Given the description of an element on the screen output the (x, y) to click on. 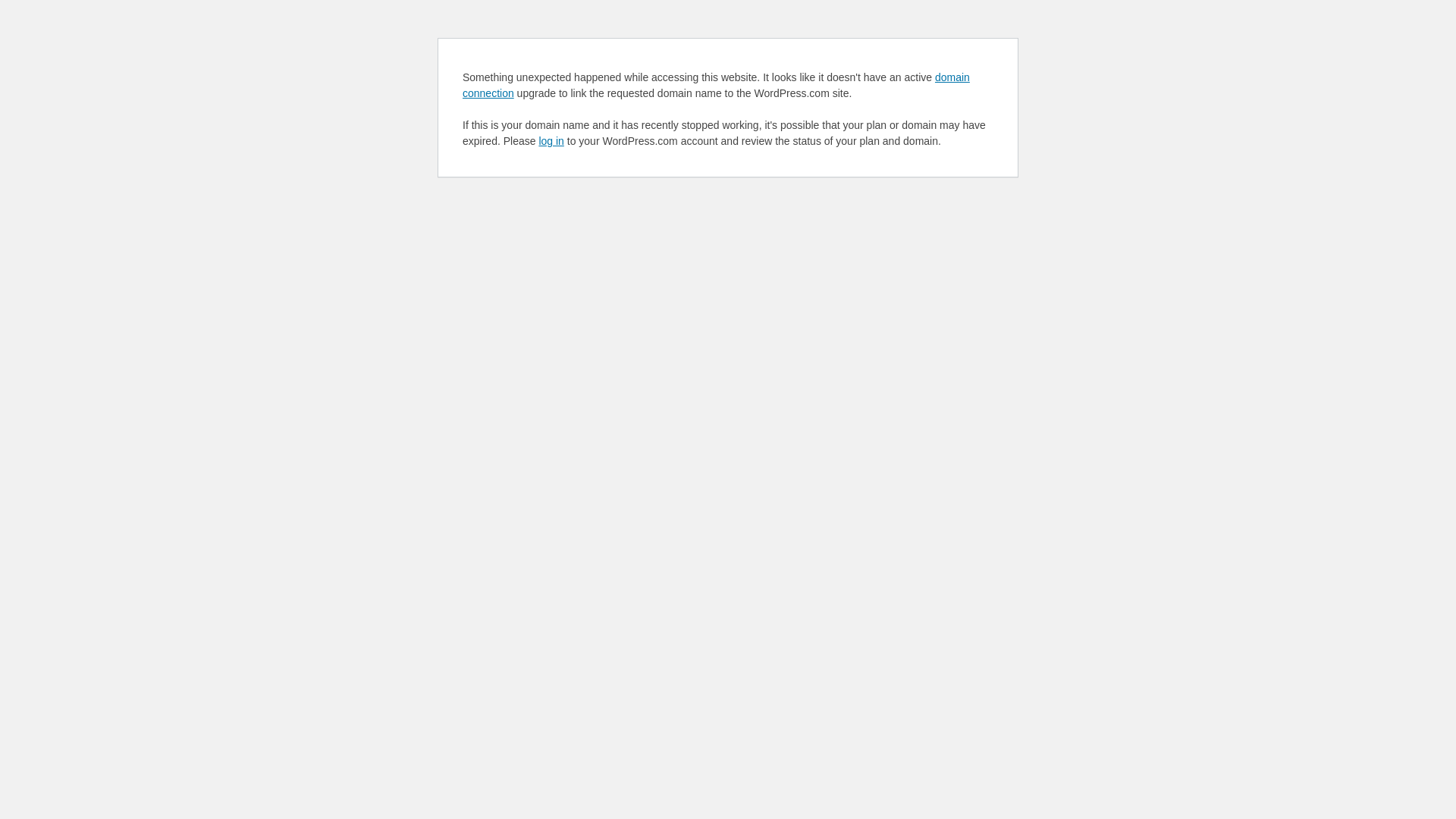
log in Element type: text (550, 140)
domain connection Element type: text (715, 85)
